Given the description of an element on the screen output the (x, y) to click on. 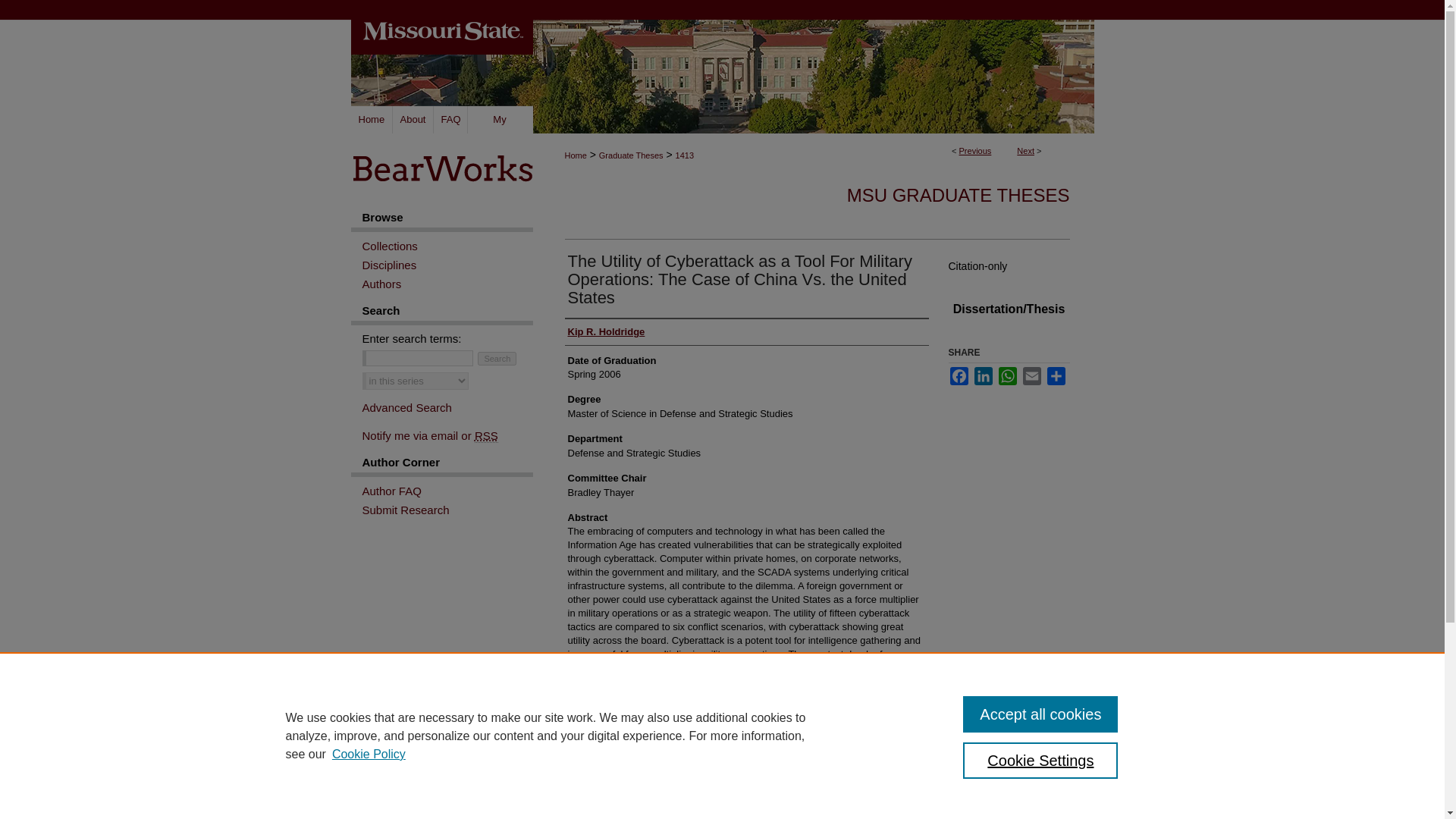
Home (370, 119)
Authors (447, 283)
Facebook (958, 375)
Submit Research (447, 509)
Next (1024, 150)
About (413, 119)
WhatsApp (1006, 375)
FAQ (450, 119)
Search (496, 358)
FAQ (450, 119)
Notify me via email or RSS (447, 435)
Email (1031, 375)
Email or RSS Notifications (447, 435)
Search (496, 358)
My Account (499, 119)
